Given the description of an element on the screen output the (x, y) to click on. 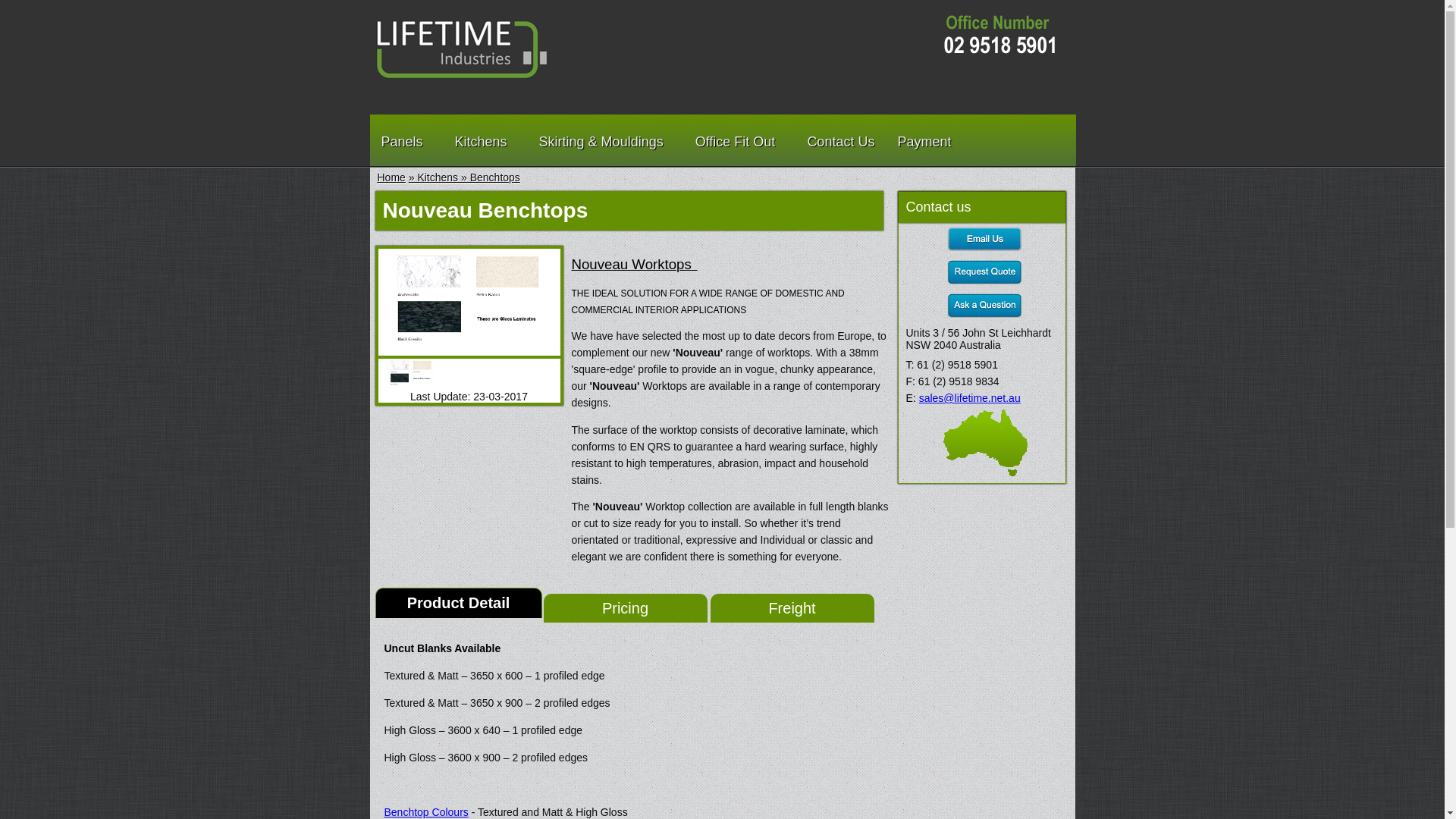
Contact Us Element type: text (840, 140)
Home Element type: text (391, 177)
Lifetime Industries Element type: hover (462, 78)
Nouveau Benchtops Element type: hover (410, 373)
Nouveau Benchtops Element type: hover (467, 349)
Pricing Element type: text (624, 607)
Product Detail Element type: text (457, 602)
sales@lifetime.net.au Element type: text (969, 398)
Freight Element type: text (791, 607)
Office Fit Out Element type: text (740, 140)
Skirting & Mouldings Element type: text (605, 140)
Panels Element type: text (406, 140)
Benchtop Colours Element type: text (425, 812)
Payment Element type: text (923, 140)
Lifetime Industries Element type: hover (462, 48)
Lifetime Industries Element type: hover (990, 38)
Kitchens Element type: text (485, 140)
